Given the description of an element on the screen output the (x, y) to click on. 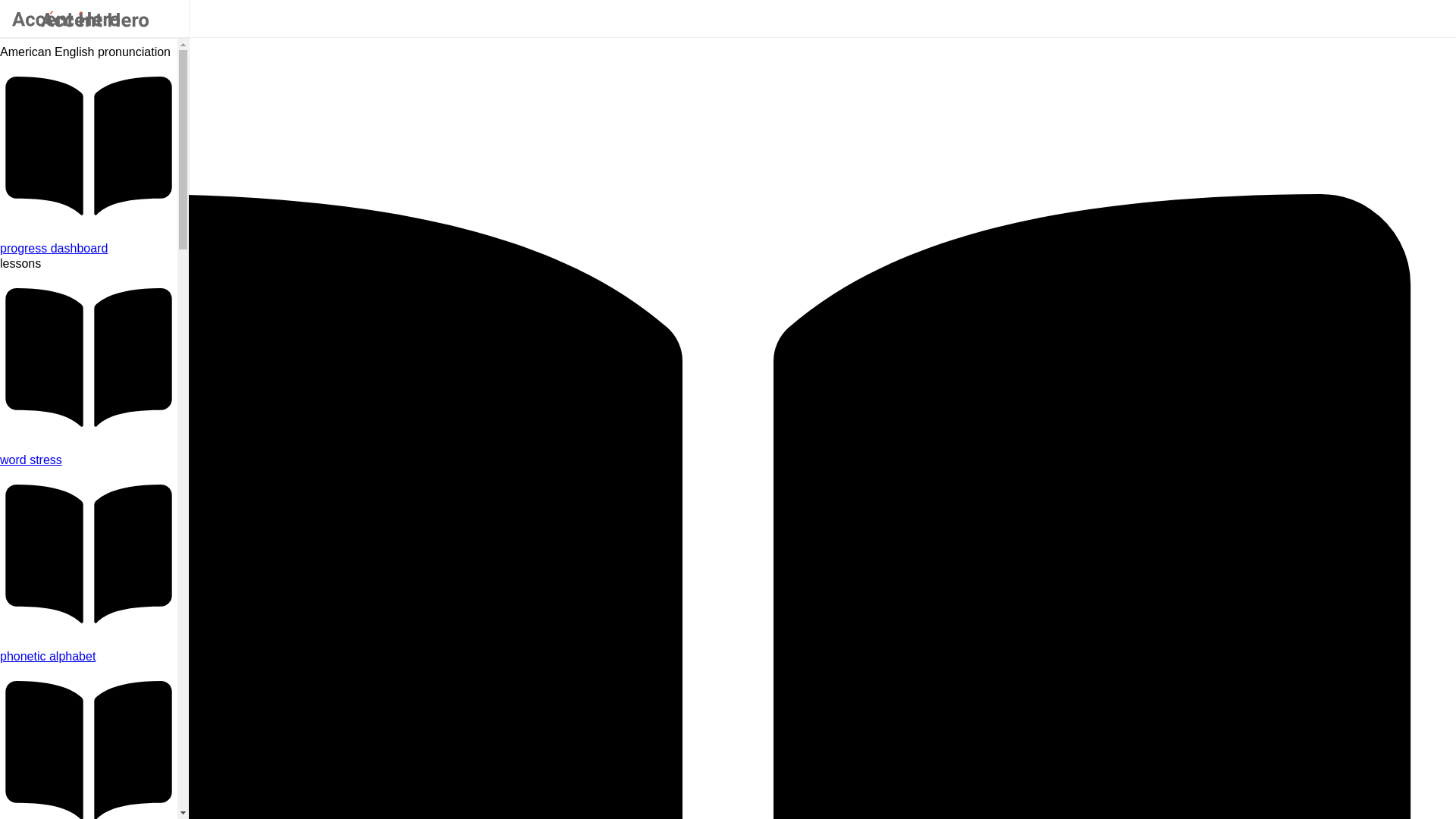
Learn to precisely articulate each sound (88, 656)
Learn how word stress influences your accent (88, 459)
